Given the description of an element on the screen output the (x, y) to click on. 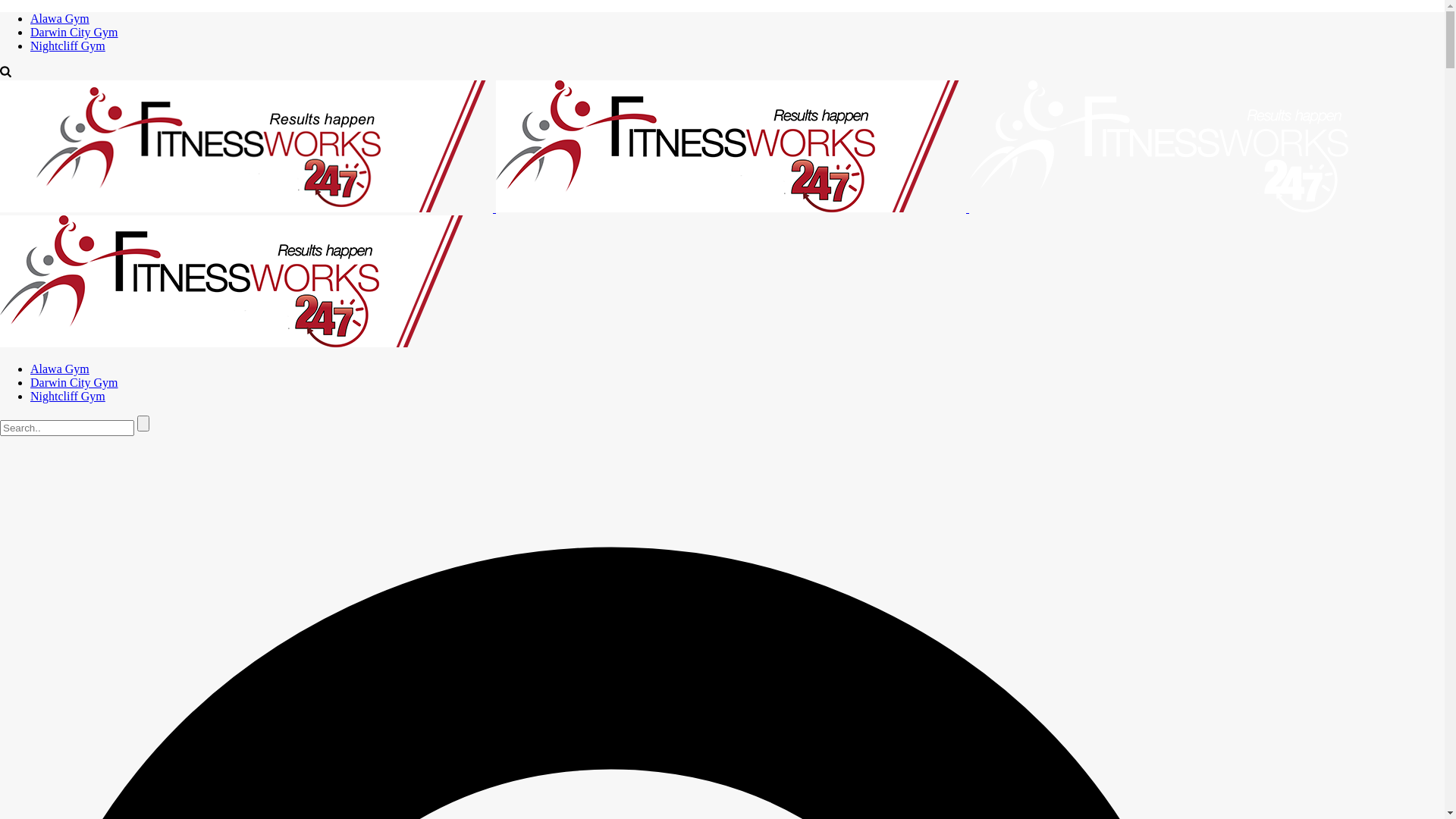
Nightcliff Gym Element type: text (67, 395)
Alawa Gym Element type: text (59, 18)
Darwin City Gym Element type: text (74, 31)
Darwin Gyms and Personal Training Element type: hover (235, 281)
FitnessWorks NT Element type: hover (674, 275)
Darwin Gyms and Personal Training Element type: hover (1158, 146)
Darwin City Gym Element type: text (74, 382)
Darwin Gyms and Personal Training Element type: hover (730, 146)
Alawa Gym Element type: text (59, 368)
Darwin Gyms and Personal Training Element type: hover (246, 146)
Nightcliff Gym Element type: text (67, 45)
